Given the description of an element on the screen output the (x, y) to click on. 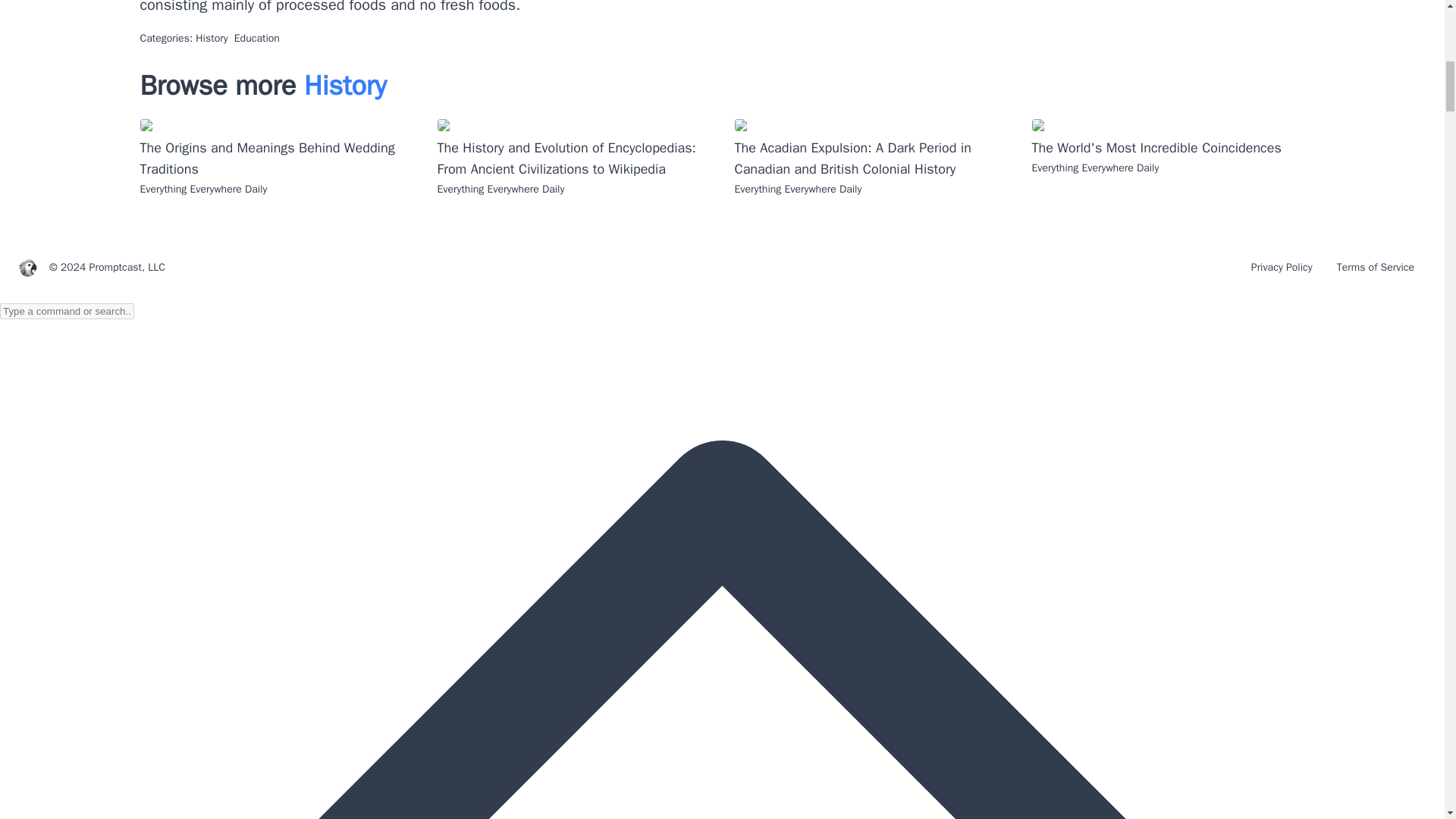
Terms of Service (1375, 267)
Privacy Policy (1281, 267)
History (211, 38)
Education (256, 38)
History (345, 85)
